Given the description of an element on the screen output the (x, y) to click on. 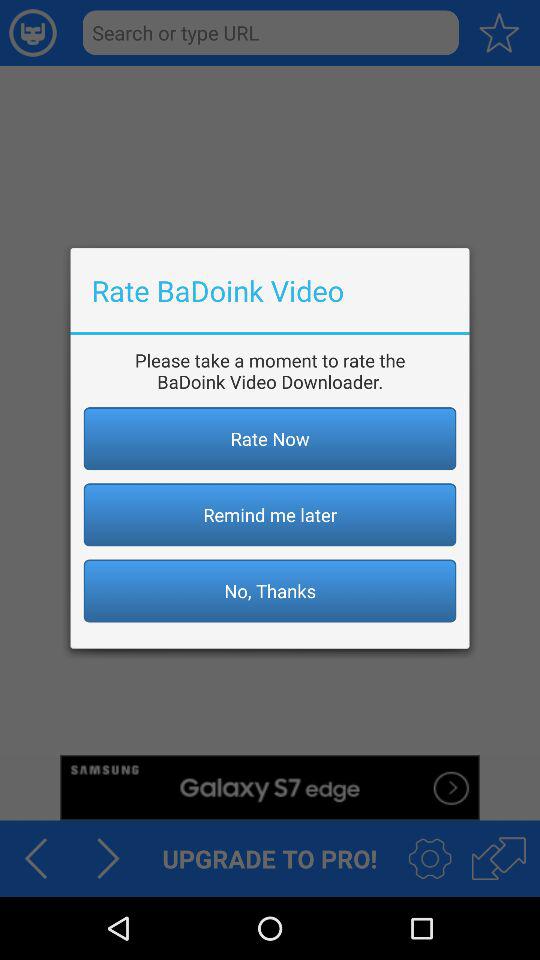
choose the rate now (269, 438)
